Given the description of an element on the screen output the (x, y) to click on. 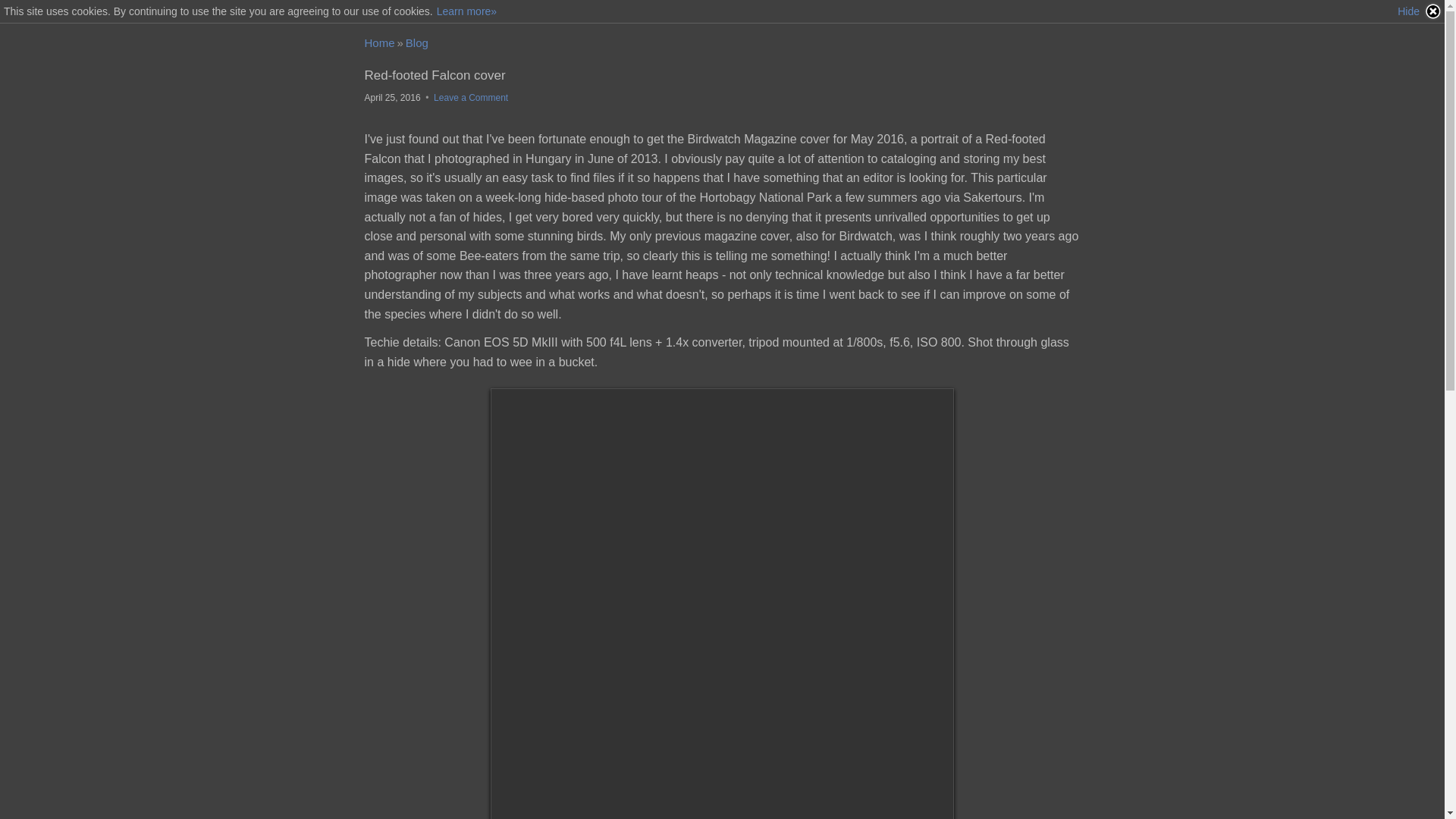
Hide (1419, 11)
Home (379, 42)
Blog (417, 42)
Leave a Comment (470, 97)
JUST BIRD PHOTOS (379, 42)
